Given the description of an element on the screen output the (x, y) to click on. 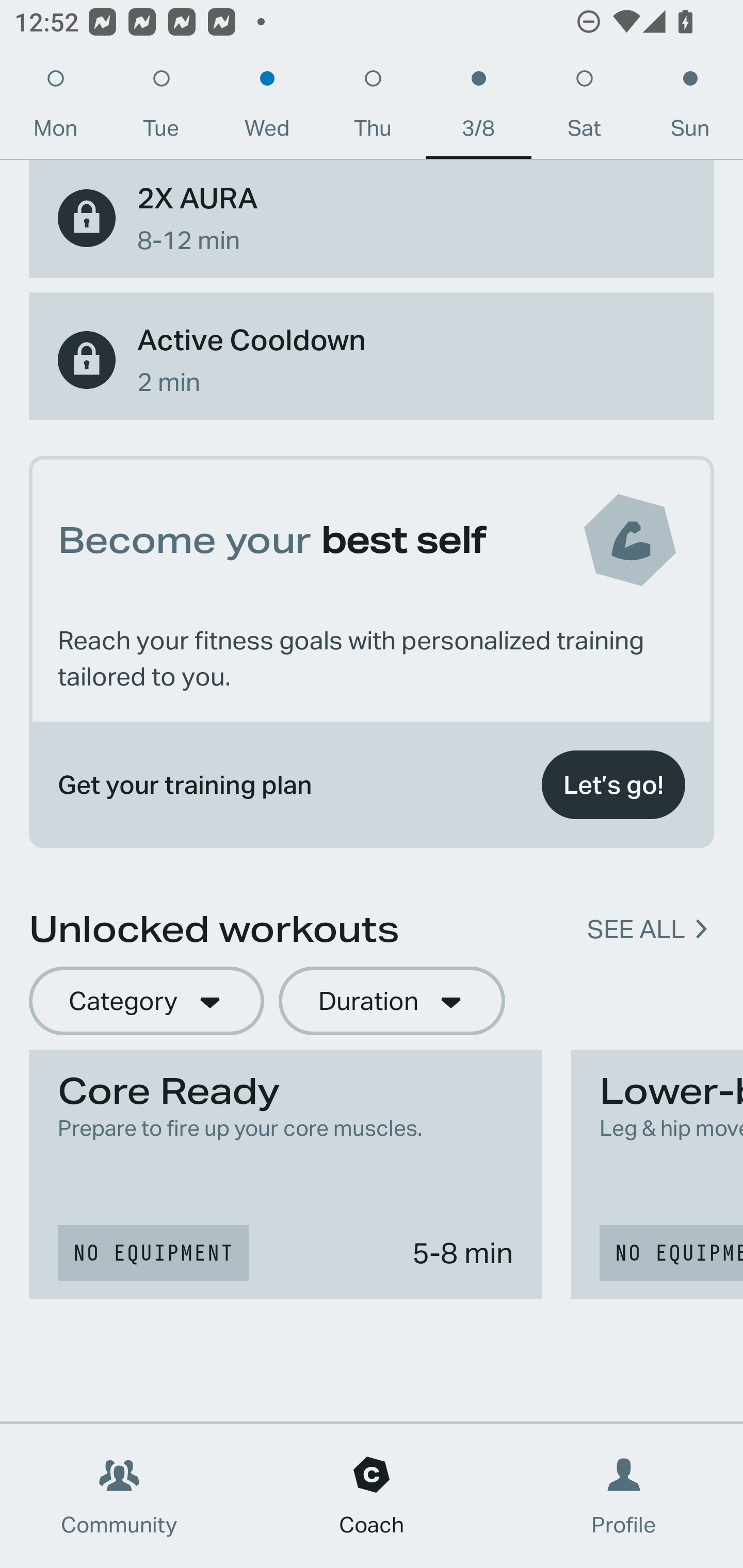
Mon (55, 108)
Tue (160, 108)
Wed (266, 108)
Thu (372, 108)
3/8 (478, 108)
Sat (584, 108)
Sun (690, 108)
2X AURA 8-12 min (371, 218)
Active Cooldown 2 min (371, 359)
Let’s go! (613, 784)
SEE ALL (635, 928)
Category (146, 1001)
Duration (391, 1001)
Community (119, 1495)
Profile (624, 1495)
